Given the description of an element on the screen output the (x, y) to click on. 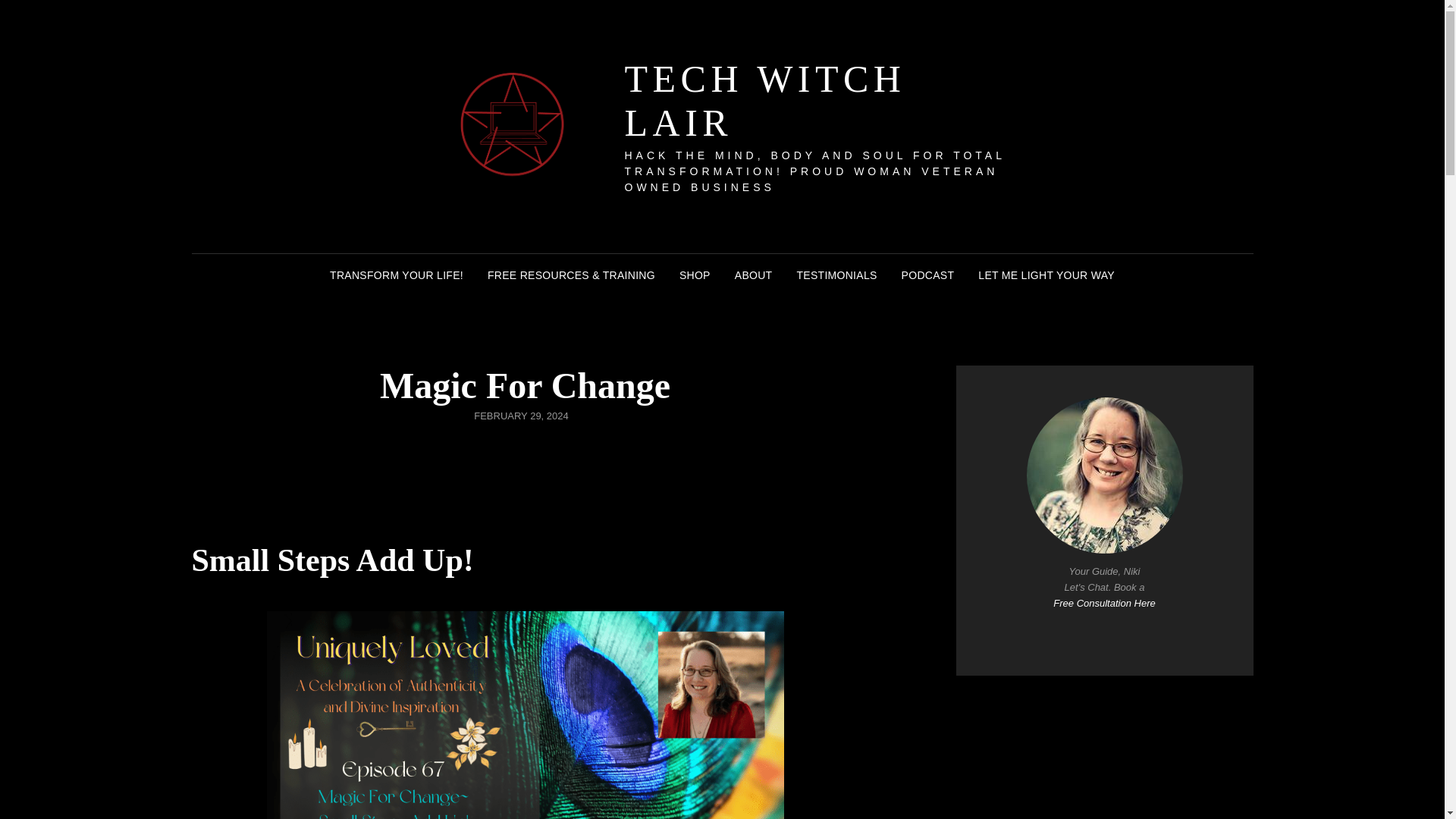
SHOP (694, 274)
FEBRUARY 29, 2024 (521, 415)
TESTIMONIALS (836, 274)
LET ME LIGHT YOUR WAY (1046, 274)
PODCAST (927, 274)
ABOUT (753, 274)
TECH WITCH LAIR (764, 100)
Free Consultation Here (1103, 603)
TRANSFORM YOUR LIFE! (396, 274)
